Given the description of an element on the screen output the (x, y) to click on. 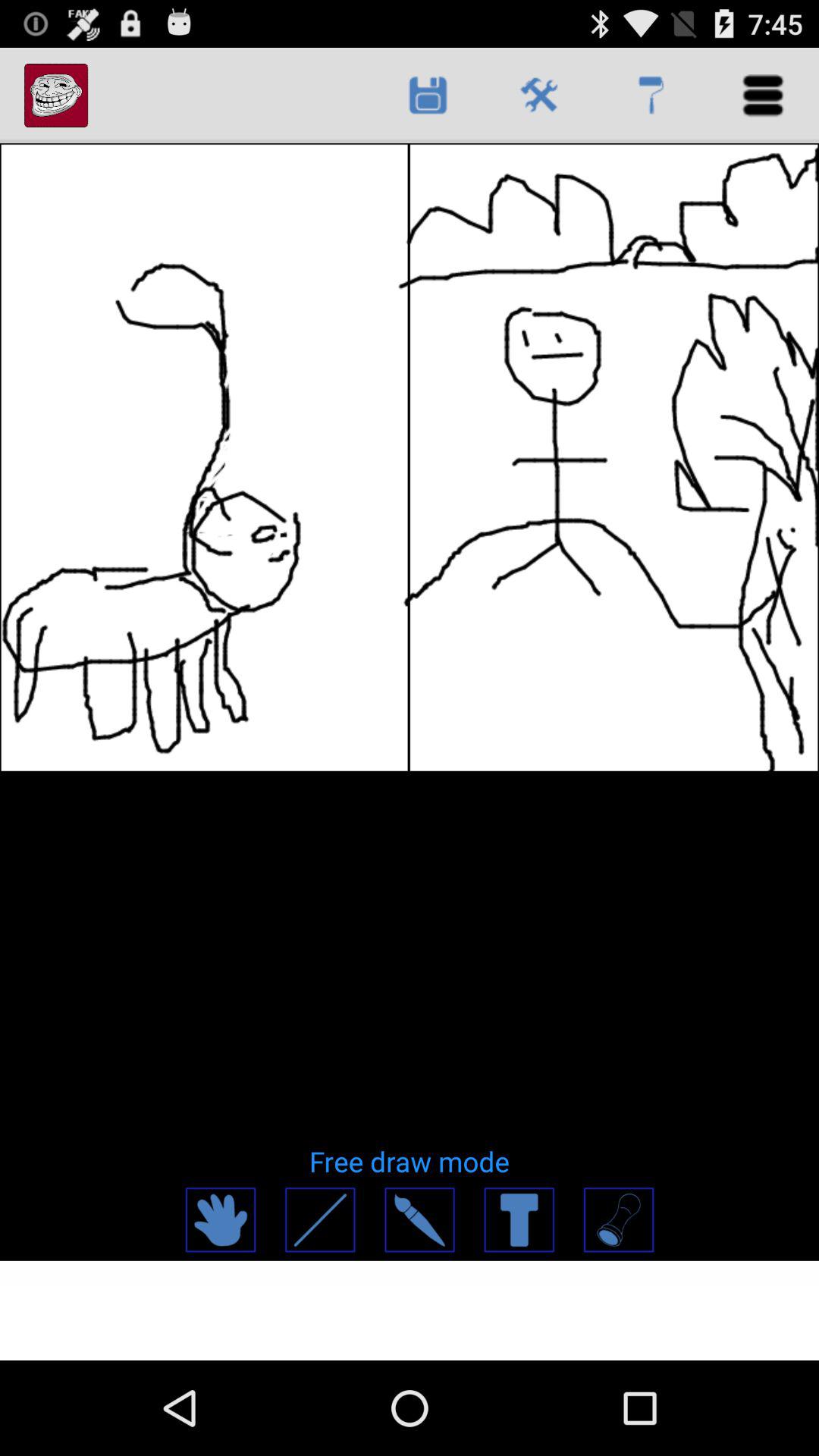
click app below the free draw mode item (518, 1219)
